Given the description of an element on the screen output the (x, y) to click on. 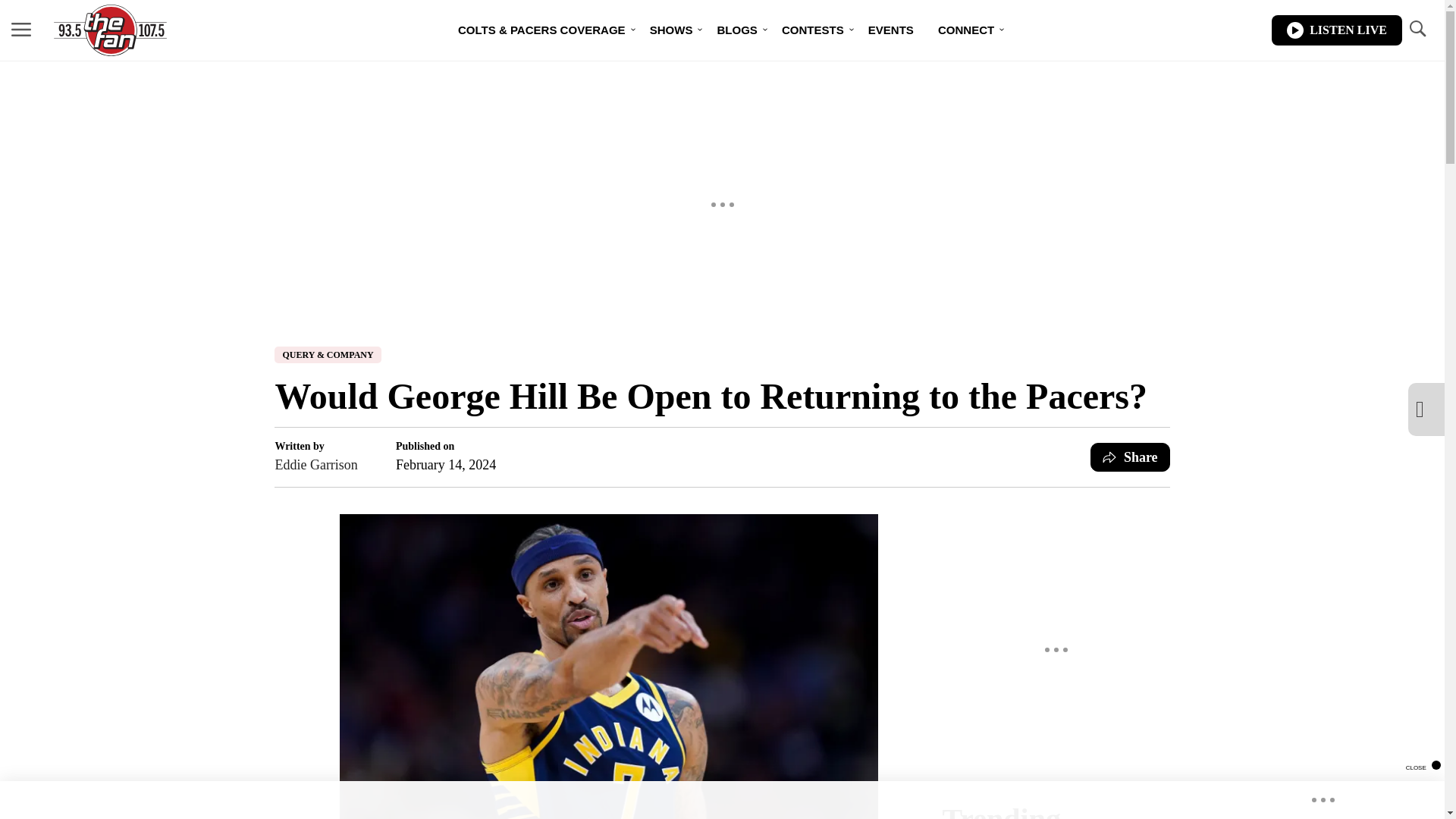
TOGGLE SEARCH (1417, 30)
CONNECT (966, 30)
EVENTS (891, 30)
MENU (20, 29)
BLOGS (736, 30)
CONTESTS (813, 30)
LISTEN LIVE (1336, 30)
SHOWS (670, 30)
TOGGLE SEARCH (1417, 28)
MENU (20, 30)
